Given the description of an element on the screen output the (x, y) to click on. 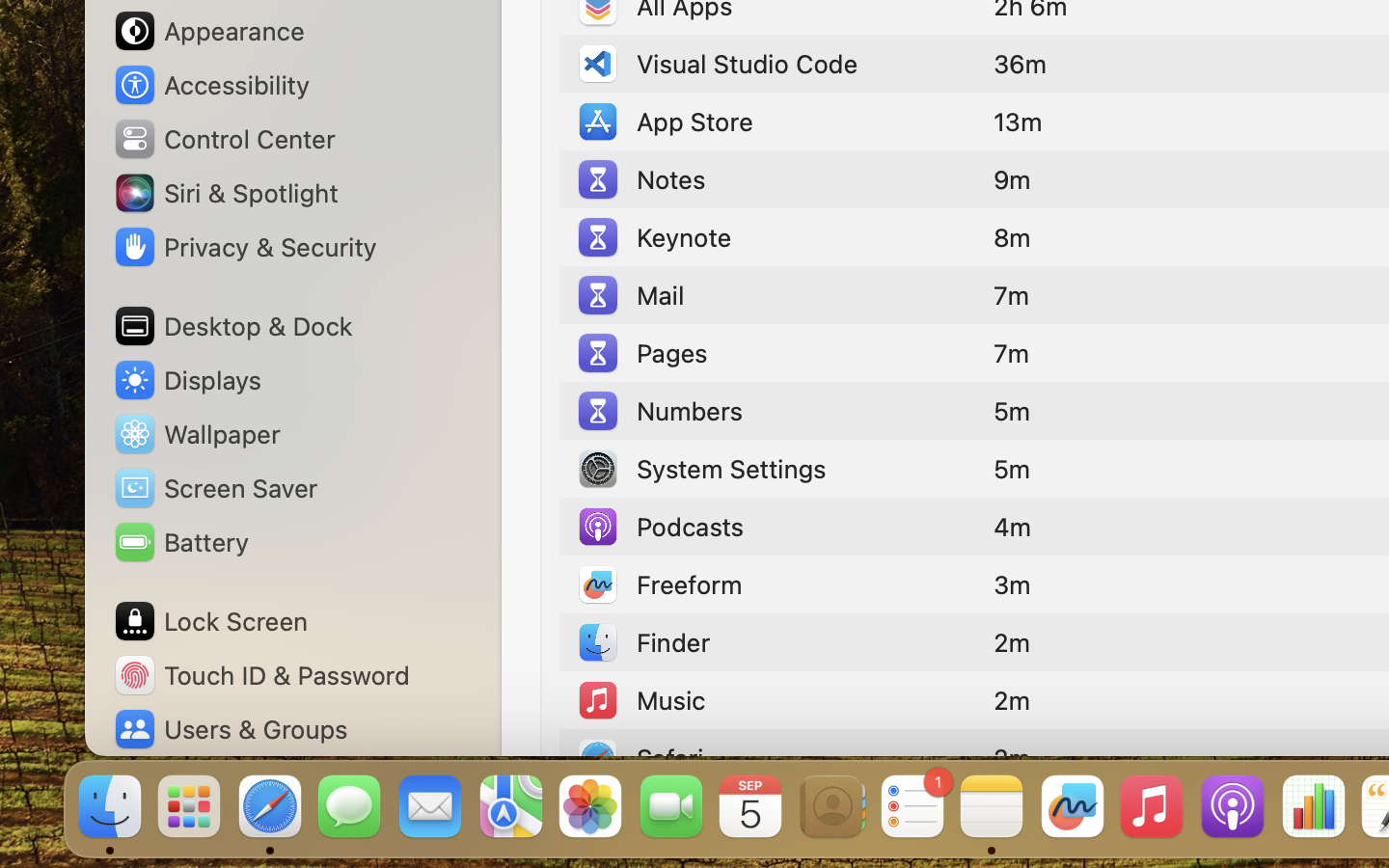
Notes Element type: AXStaticText (640, 179)
Screen Saver Element type: AXStaticText (214, 487)
Lock Screen Element type: AXStaticText (209, 620)
Accessibility Element type: AXStaticText (210, 84)
Touch ID & Password Element type: AXStaticText (260, 674)
